Given the description of an element on the screen output the (x, y) to click on. 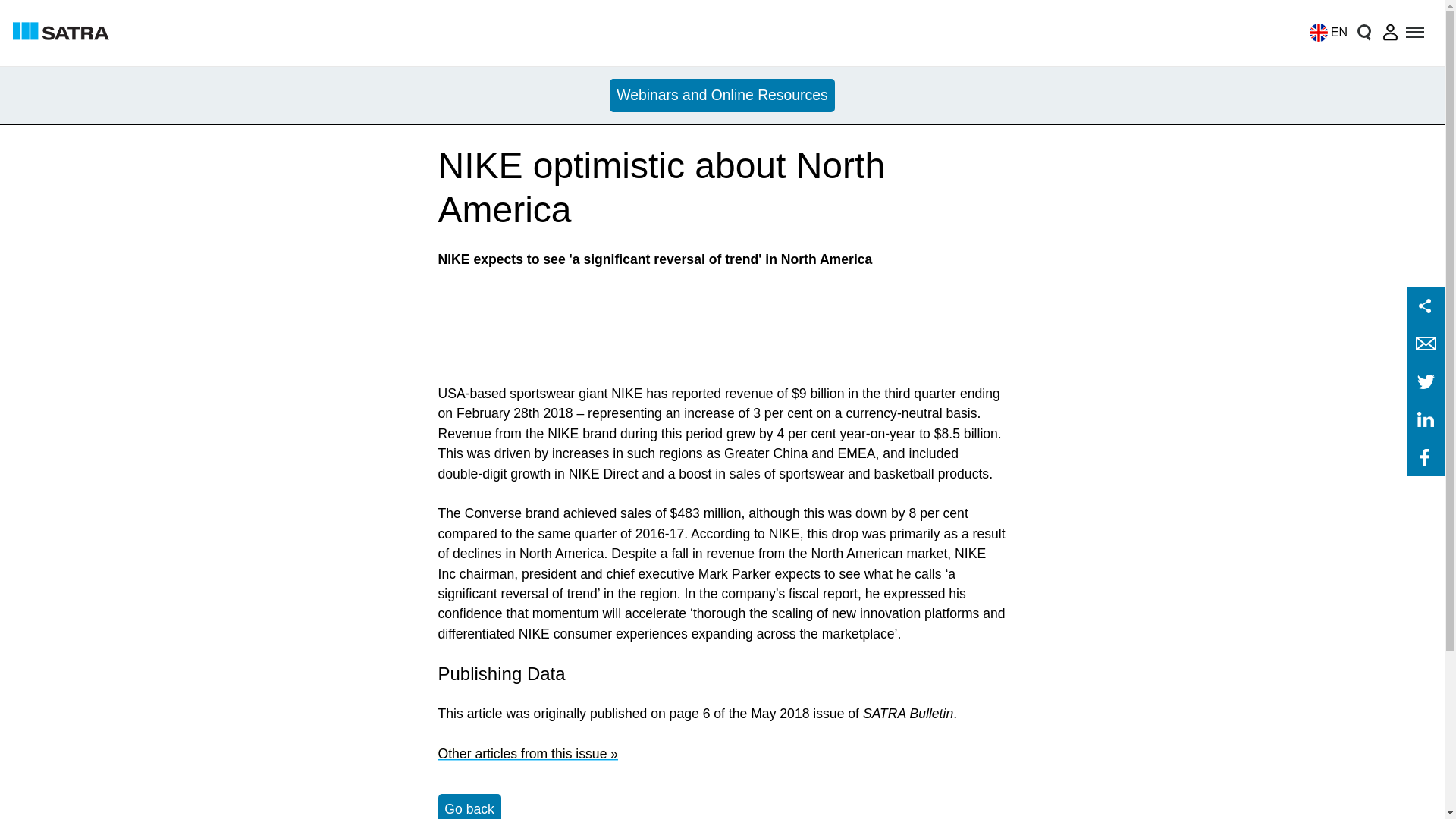
Navigation menu (1415, 32)
EN (1324, 32)
Webinars and Online Resources (722, 95)
Change language (1324, 32)
Search this site (1363, 32)
Go back (469, 806)
